Given the description of an element on the screen output the (x, y) to click on. 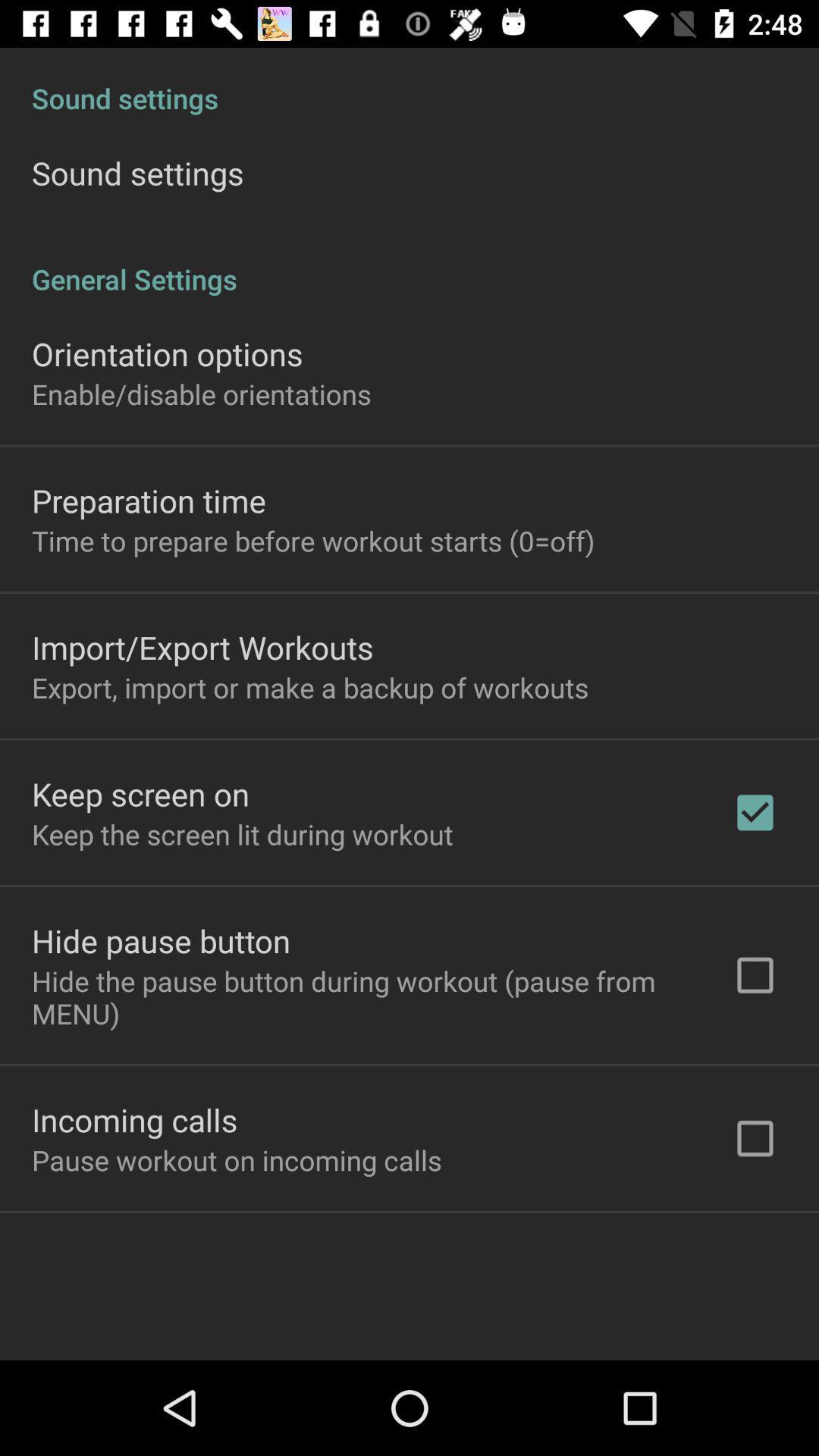
press preparation time item (148, 500)
